Given the description of an element on the screen output the (x, y) to click on. 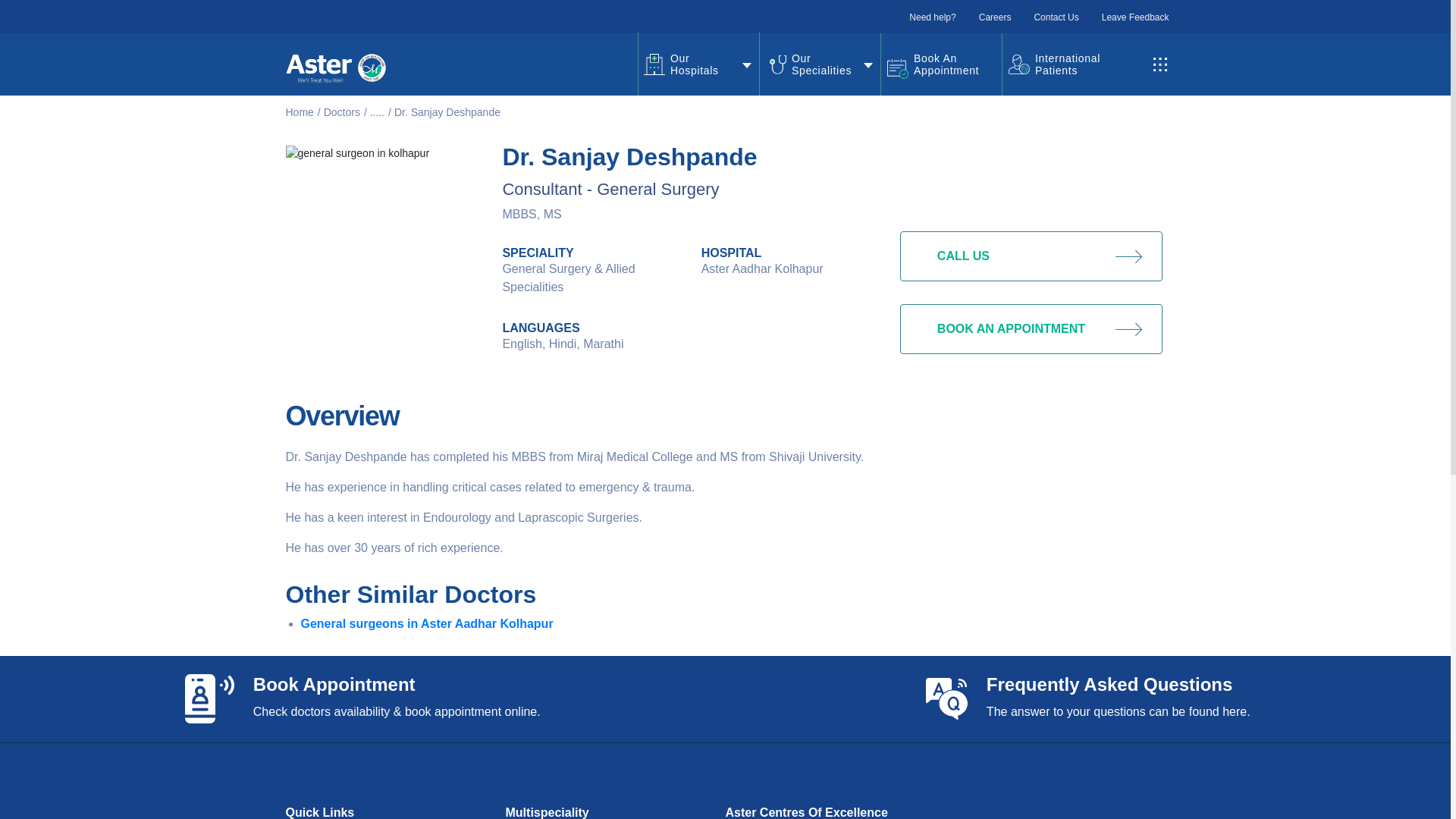
Leave Feedback (1135, 17)
Careers (994, 17)
Contact Us (1055, 17)
Need help? (931, 17)
